Given the description of an element on the screen output the (x, y) to click on. 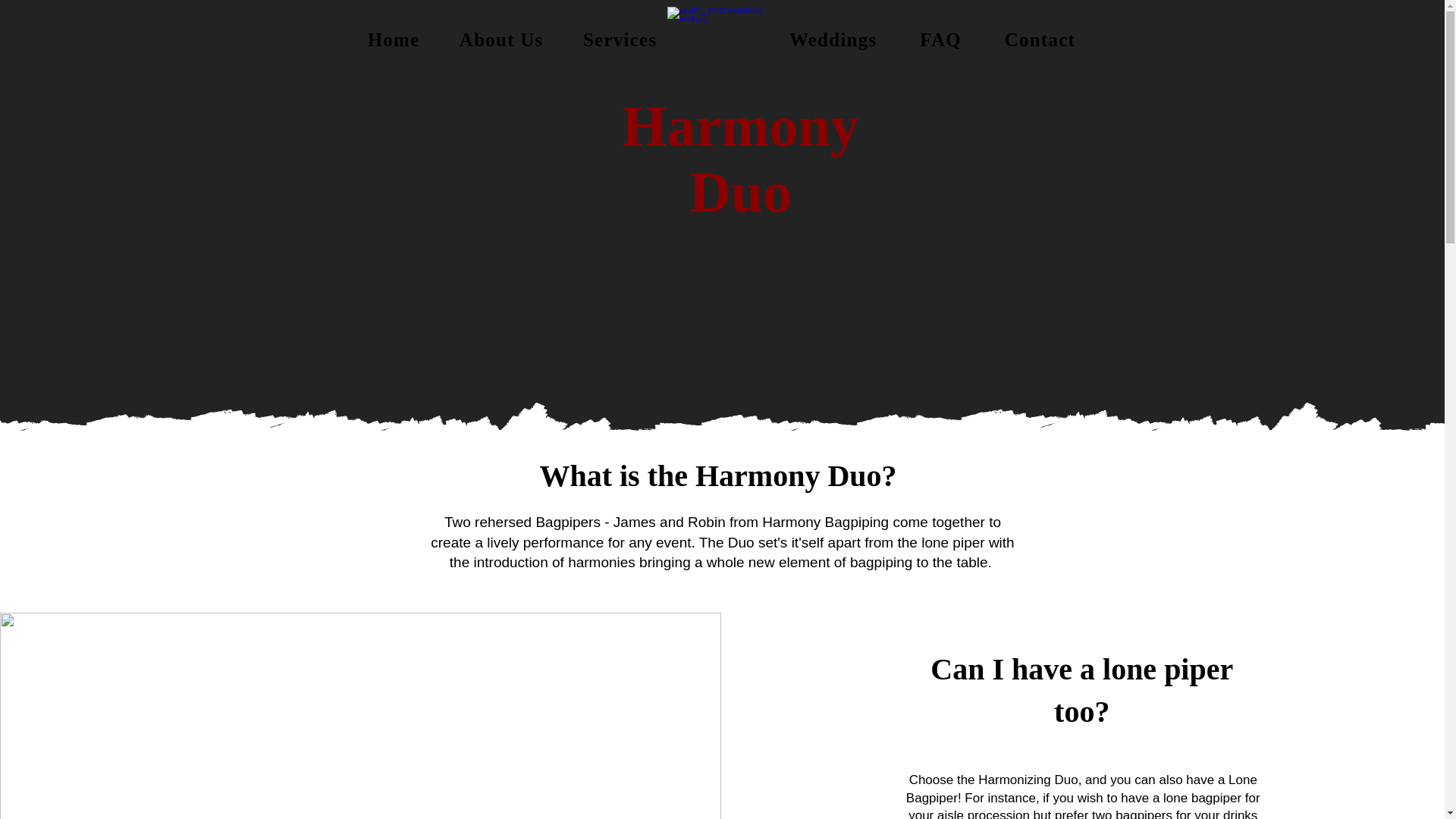
FAQ (940, 39)
About Us (501, 39)
Services (620, 39)
Weddings (832, 39)
Contact (1039, 39)
Home (392, 39)
